Given the description of an element on the screen output the (x, y) to click on. 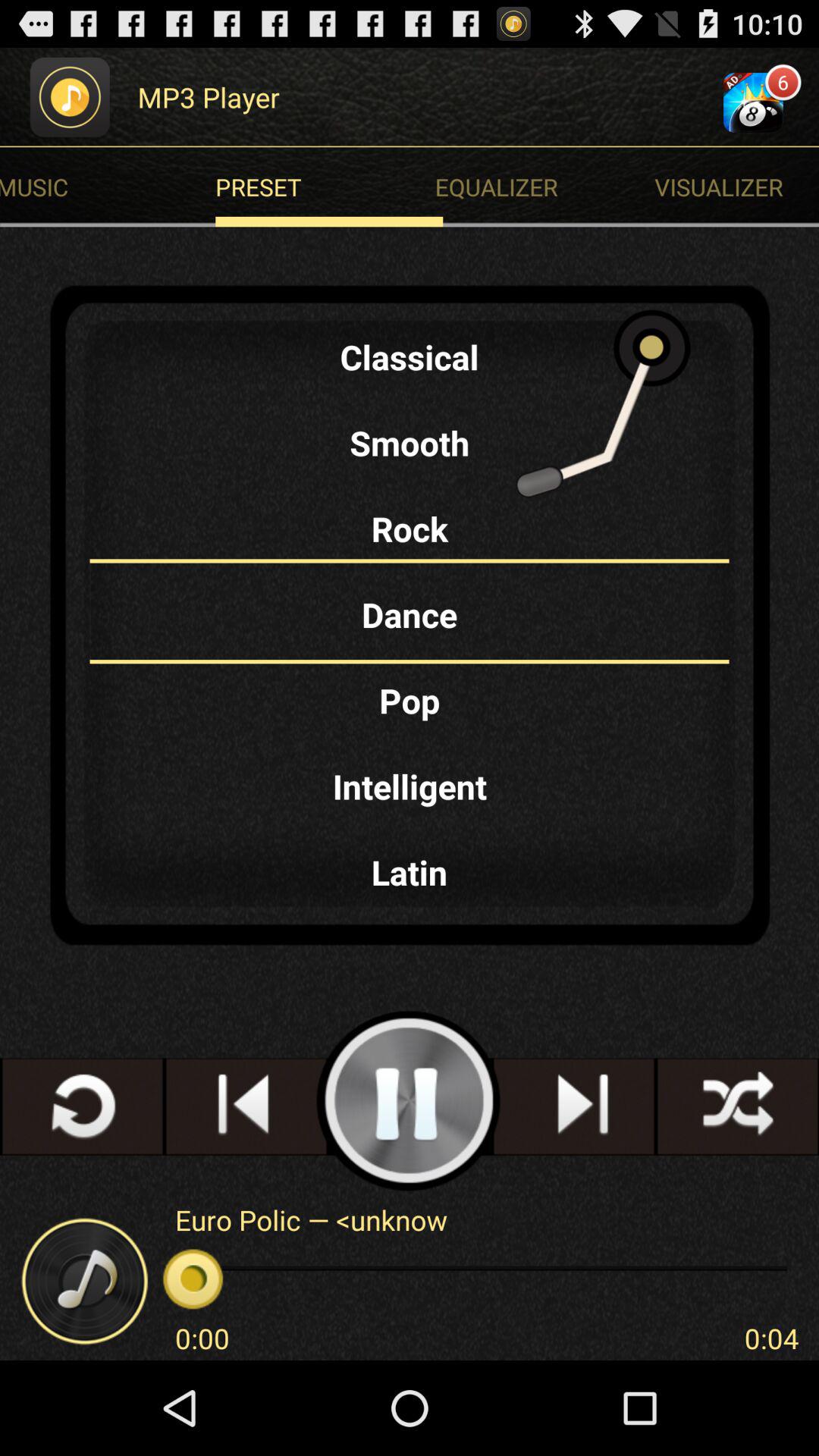
flip to preset icon (329, 186)
